Given the description of an element on the screen output the (x, y) to click on. 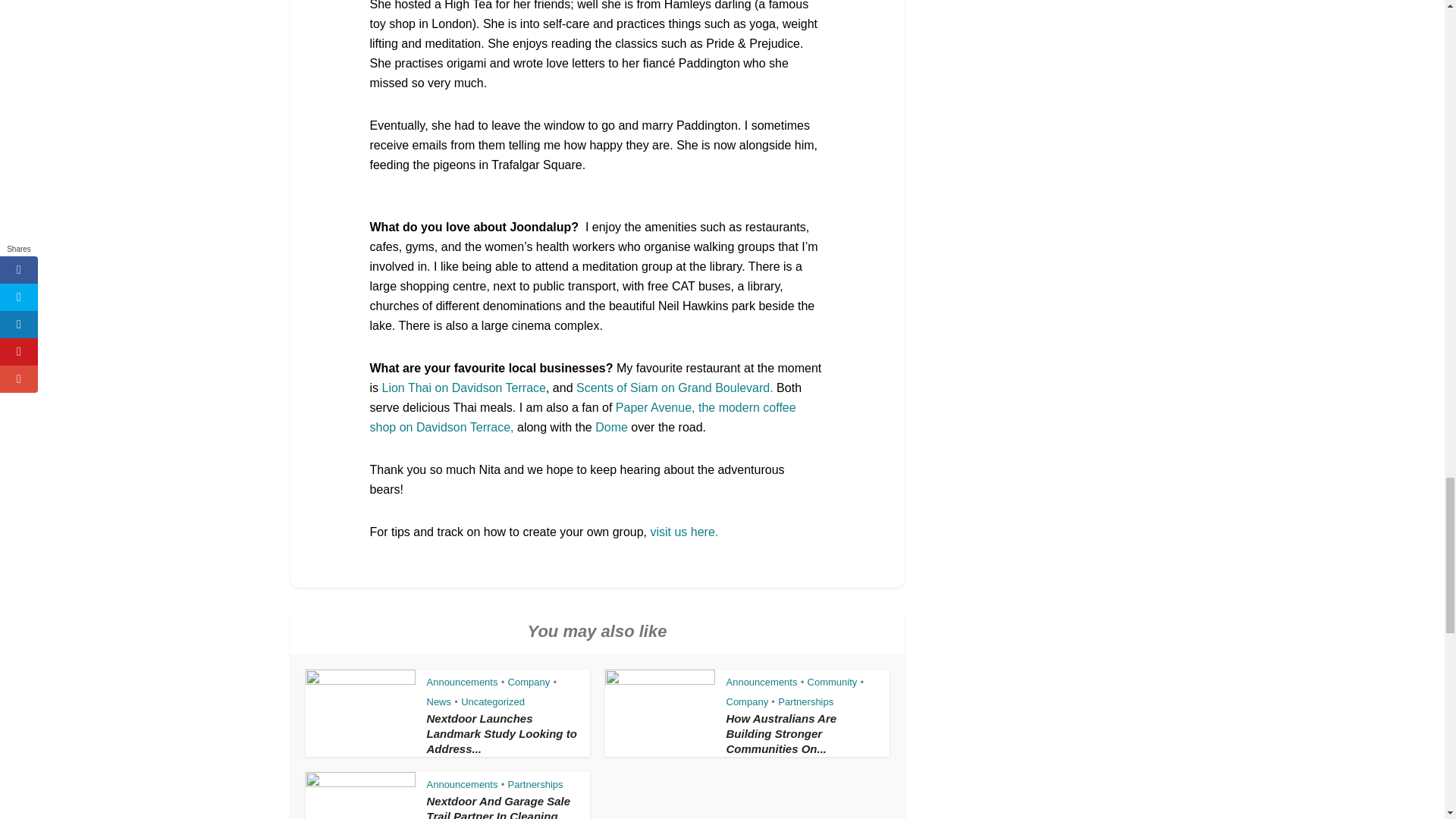
News (438, 701)
Announcements (761, 681)
Paper Avenue, the modern coffee shop on Davidson Terrace, (582, 417)
Announcements (461, 681)
Nextdoor And Garage Sale Trail Partner In Cleaning Up... (498, 806)
Dome (611, 427)
Partnerships (535, 784)
visit us here.  (684, 531)
Lion Thai on Davidson Terrace (463, 387)
